Given the description of an element on the screen output the (x, y) to click on. 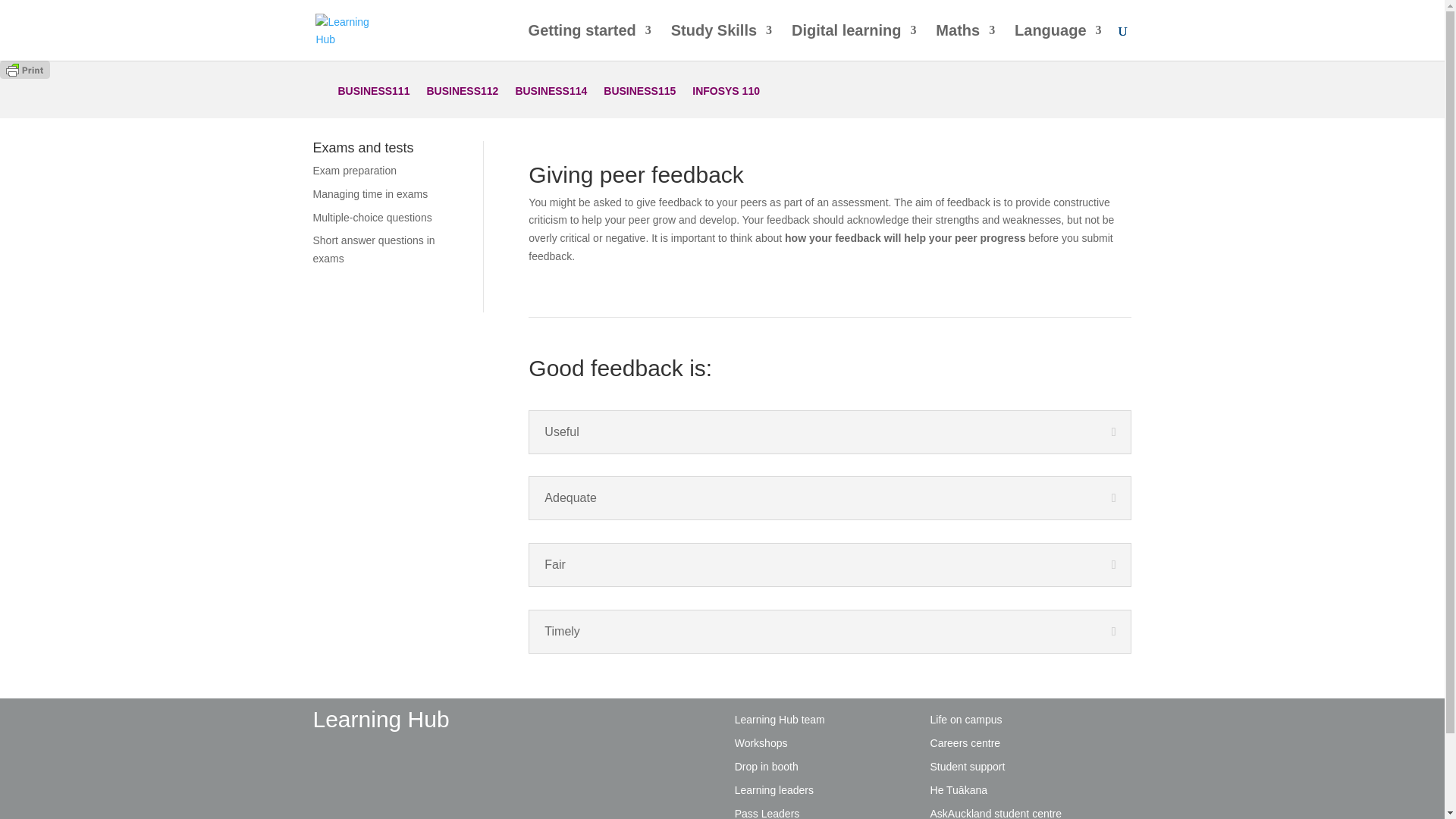
Study Skills (721, 42)
Life on campus (966, 719)
Student Support (968, 766)
Careers centre (965, 743)
AskAuckland student centre (996, 813)
Getting started (589, 42)
